Given the description of an element on the screen output the (x, y) to click on. 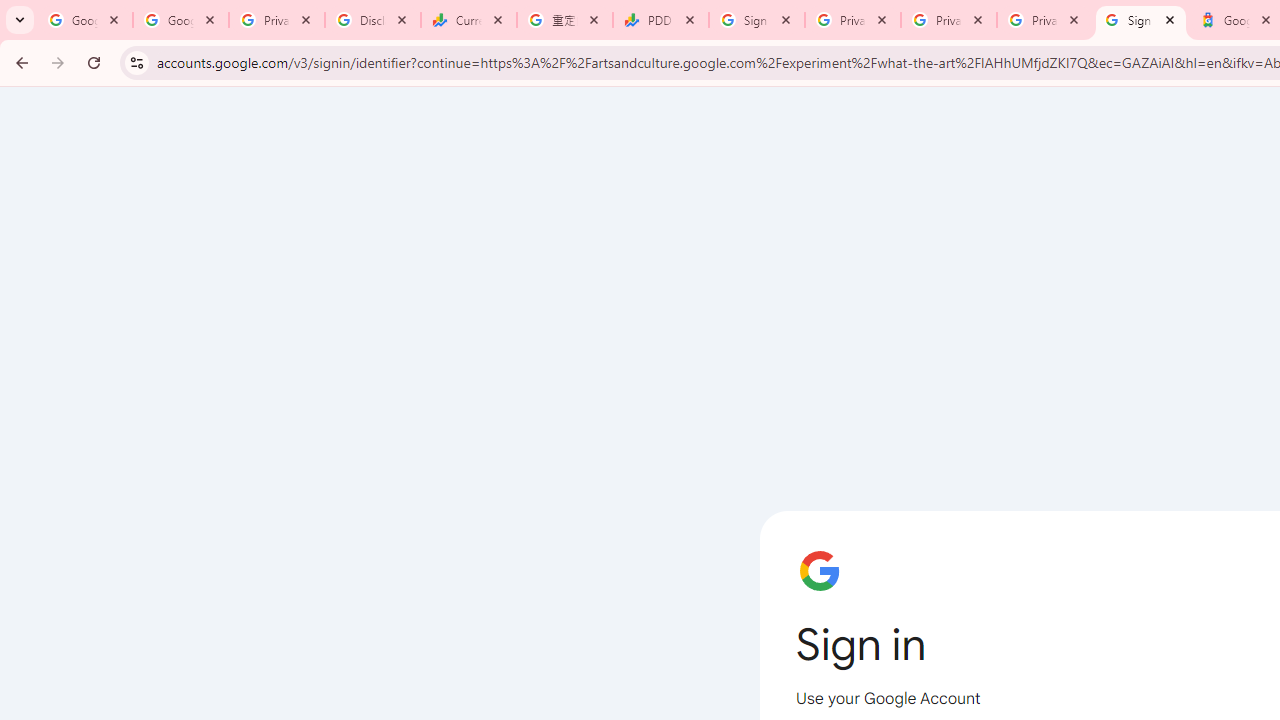
Sign in - Google Accounts (757, 20)
Privacy Checkup (1045, 20)
PDD Holdings Inc - ADR (PDD) Price & News - Google Finance (661, 20)
Google Workspace Admin Community (85, 20)
